Given the description of an element on the screen output the (x, y) to click on. 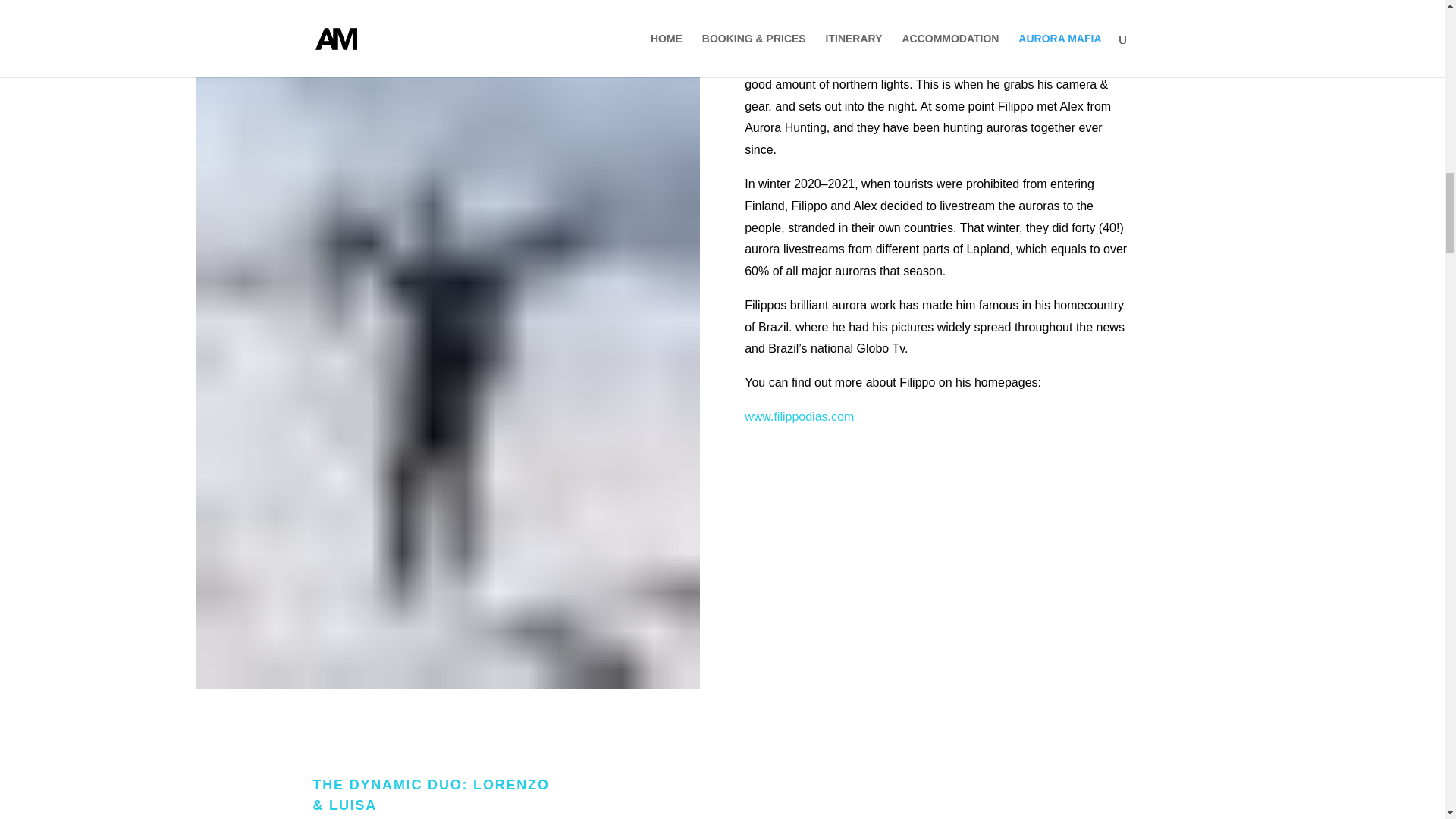
www.filippodias.com (798, 416)
